Given the description of an element on the screen output the (x, y) to click on. 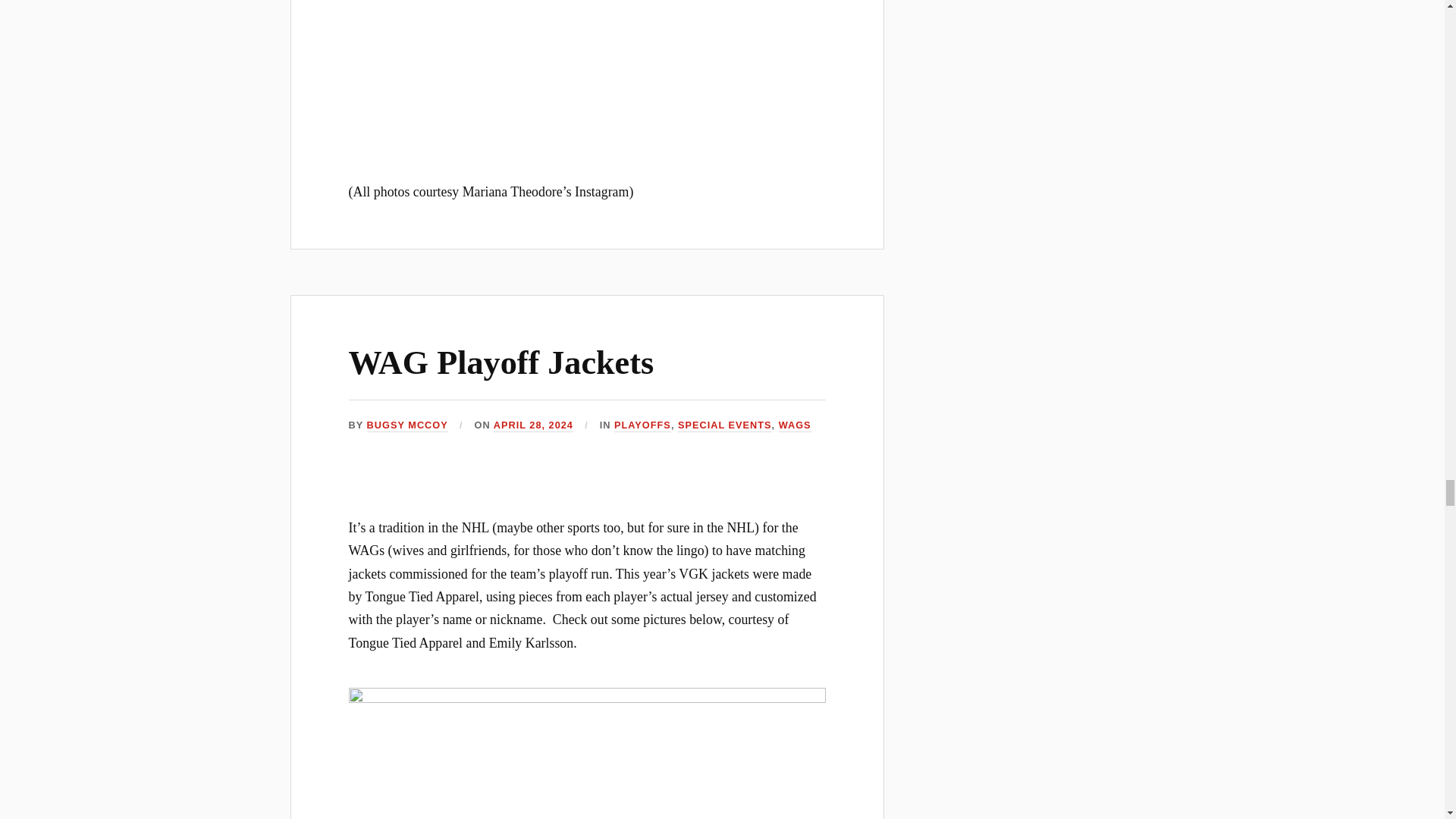
Posts by Bugsy McCoy (407, 425)
